Given the description of an element on the screen output the (x, y) to click on. 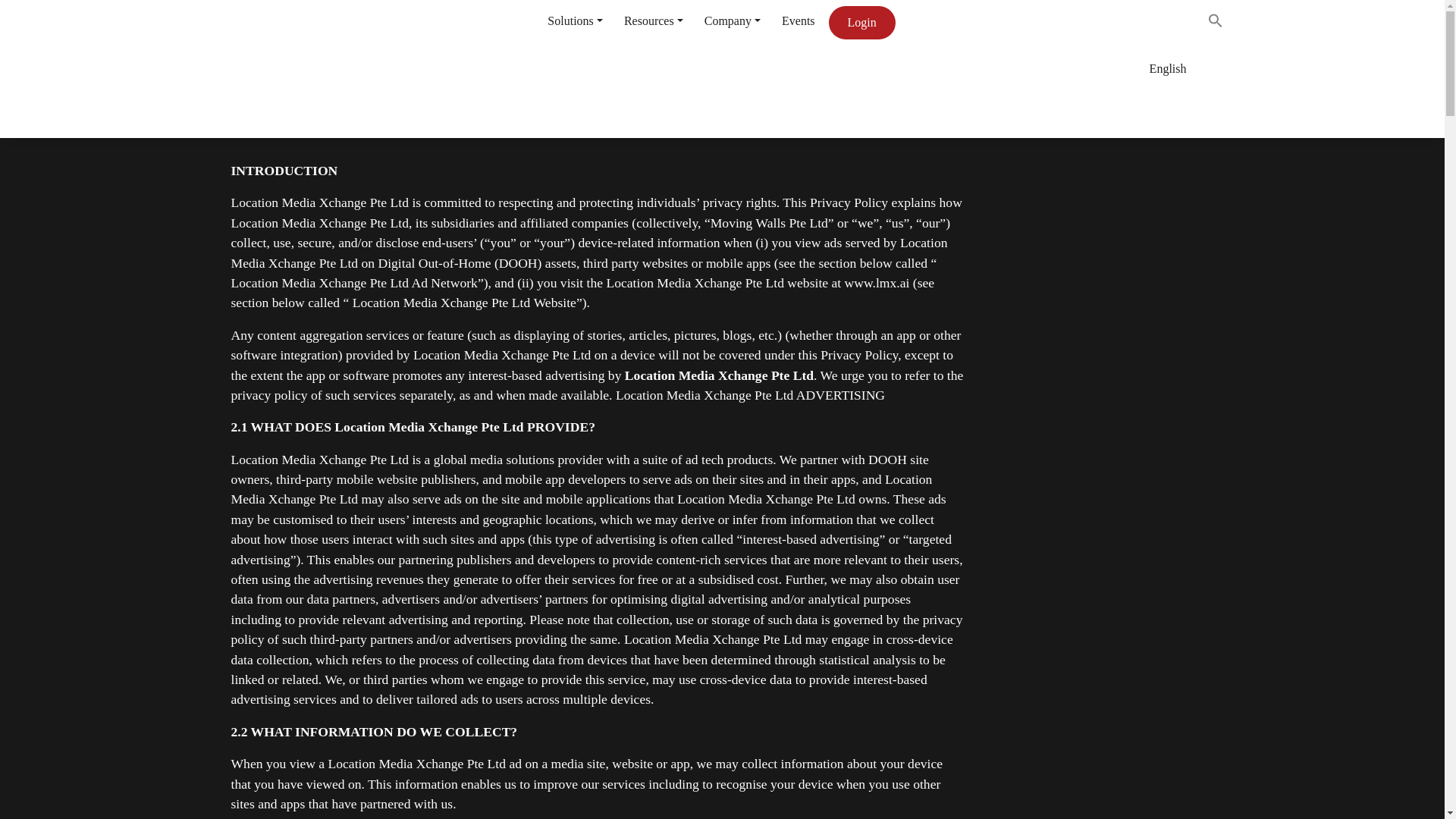
Login (861, 22)
Solutions (570, 20)
Solutions (570, 20)
English (1047, 68)
Events (794, 20)
Company (727, 20)
Resources (648, 20)
Resources (648, 20)
